Given the description of an element on the screen output the (x, y) to click on. 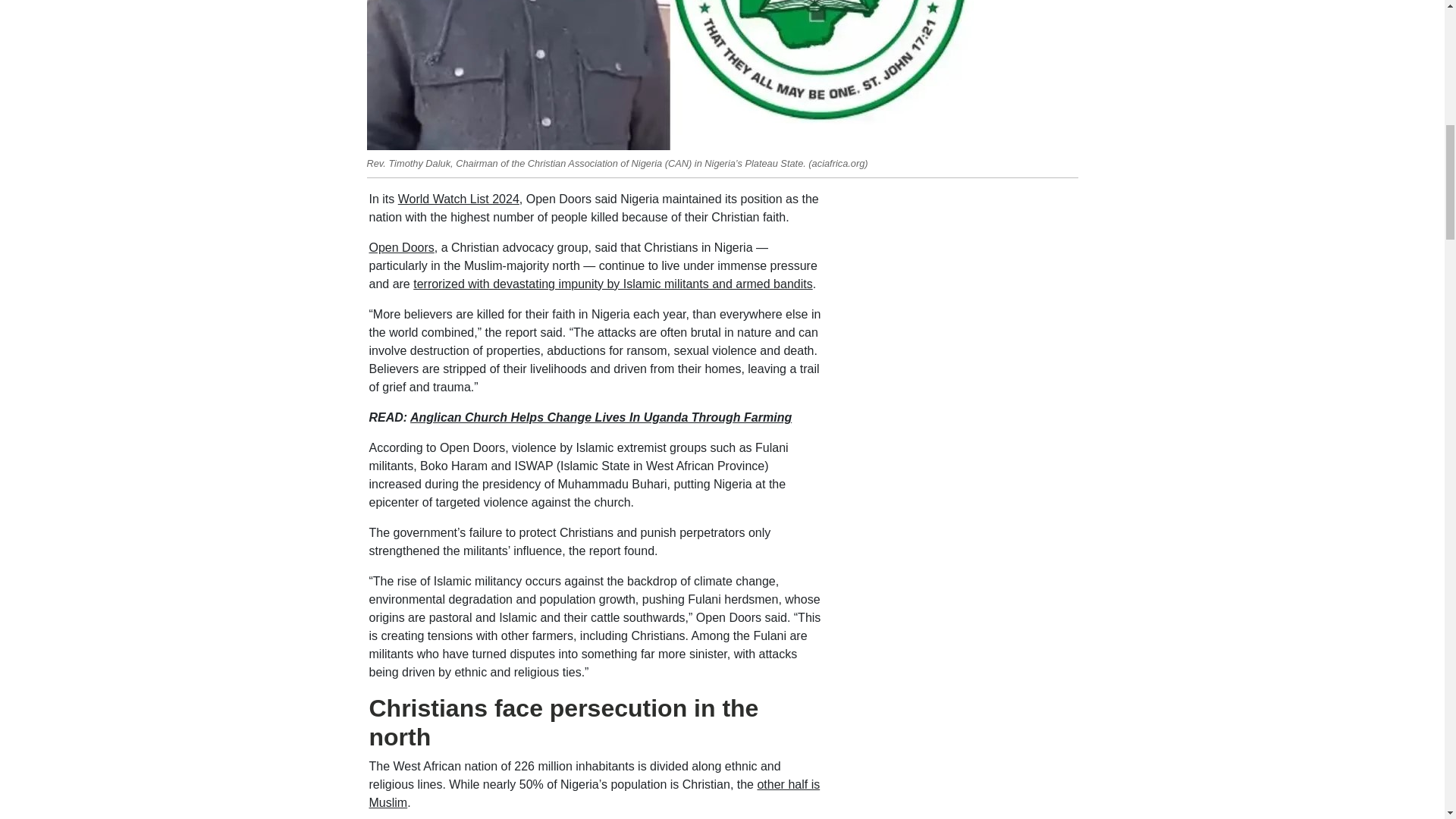
3rd party ad content (961, 611)
3rd party ad content (961, 285)
